Given the description of an element on the screen output the (x, y) to click on. 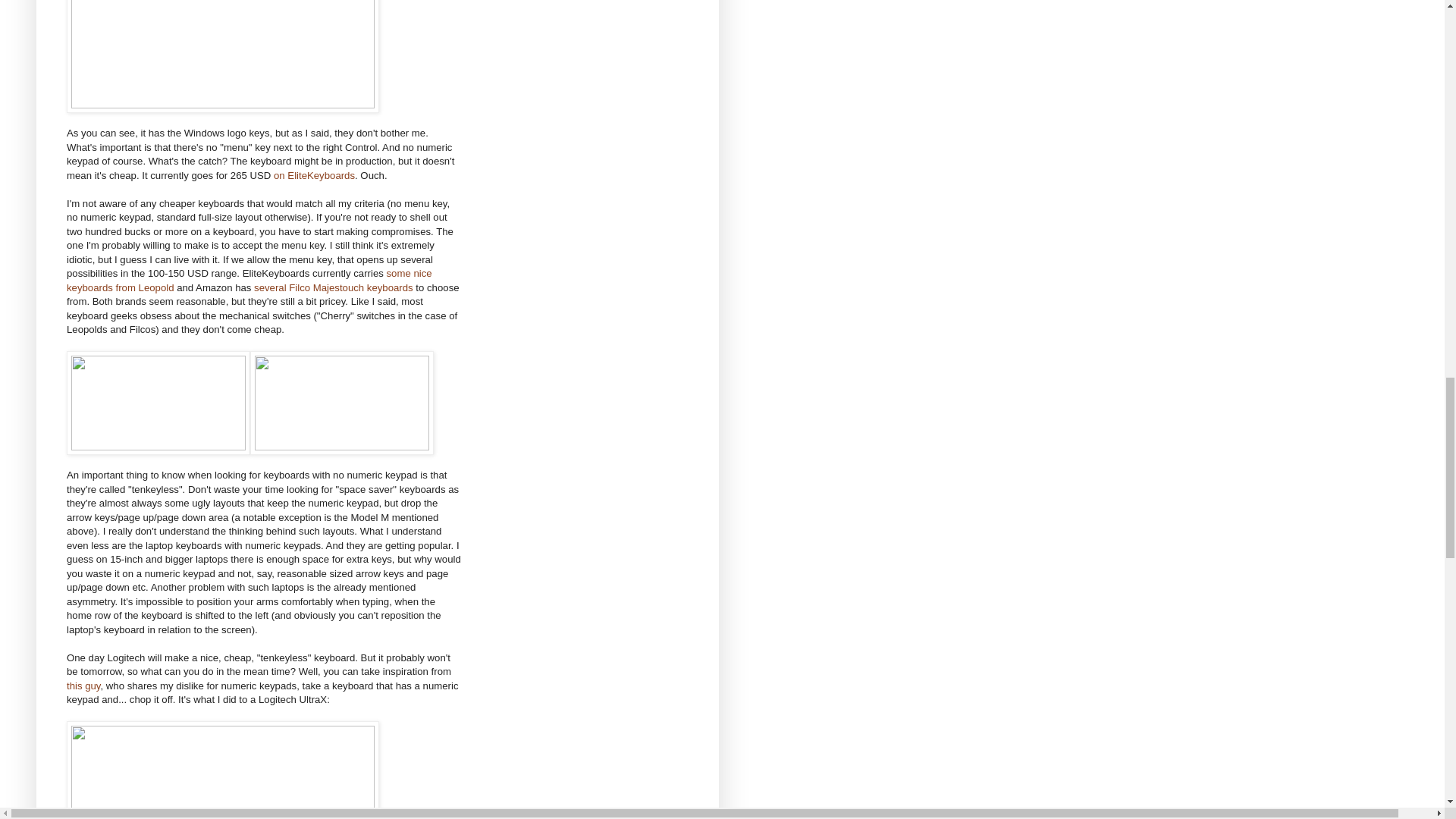
several Filco Majestouch keyboards (333, 287)
this guy (83, 685)
some nice keyboards from Leopold (249, 279)
on EliteKeyboards (314, 174)
